Given the description of an element on the screen output the (x, y) to click on. 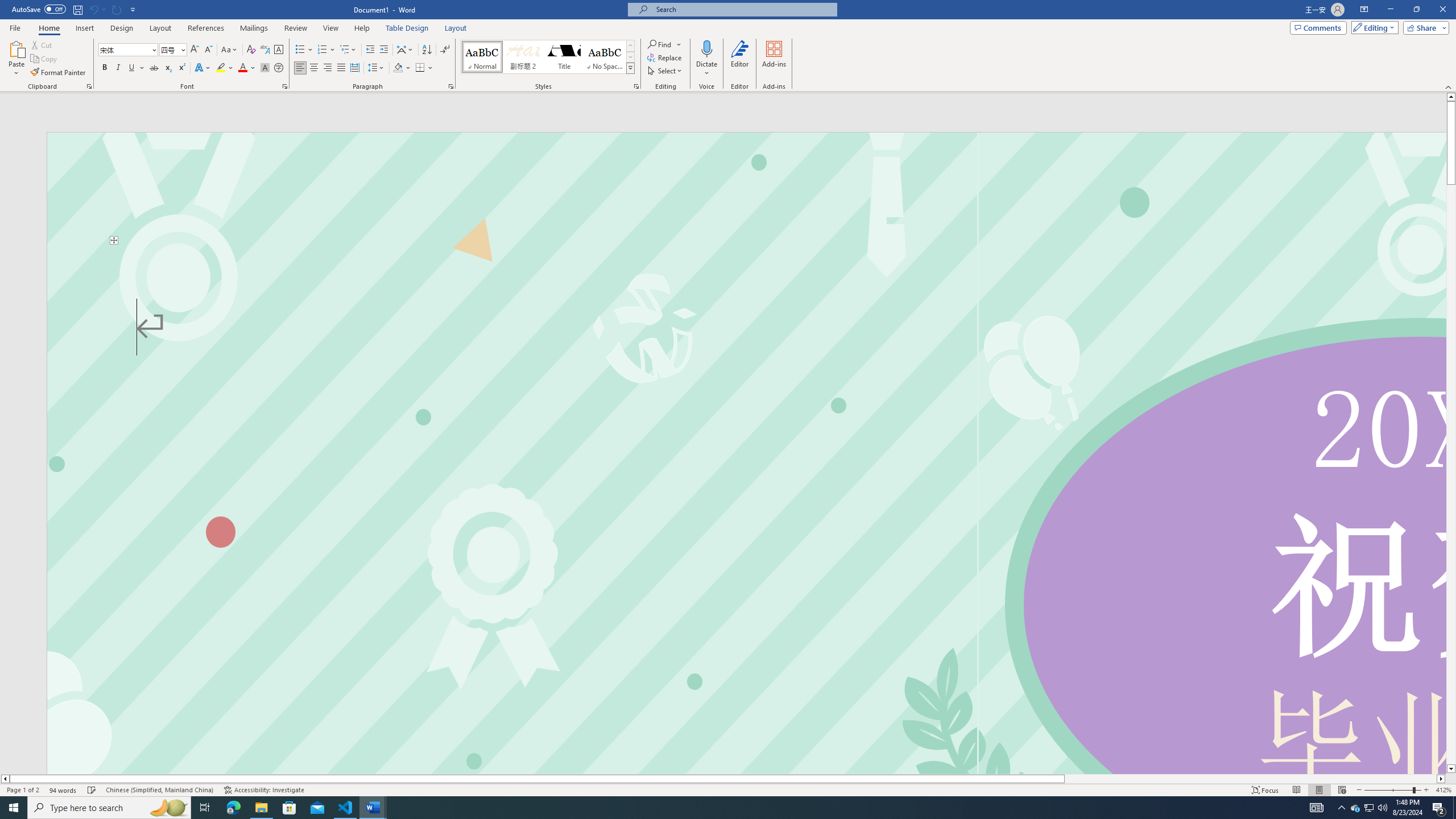
Can't Repeat (117, 9)
Line down (1450, 768)
Page right (1250, 778)
Page 1 content (745, 508)
